Given the description of an element on the screen output the (x, y) to click on. 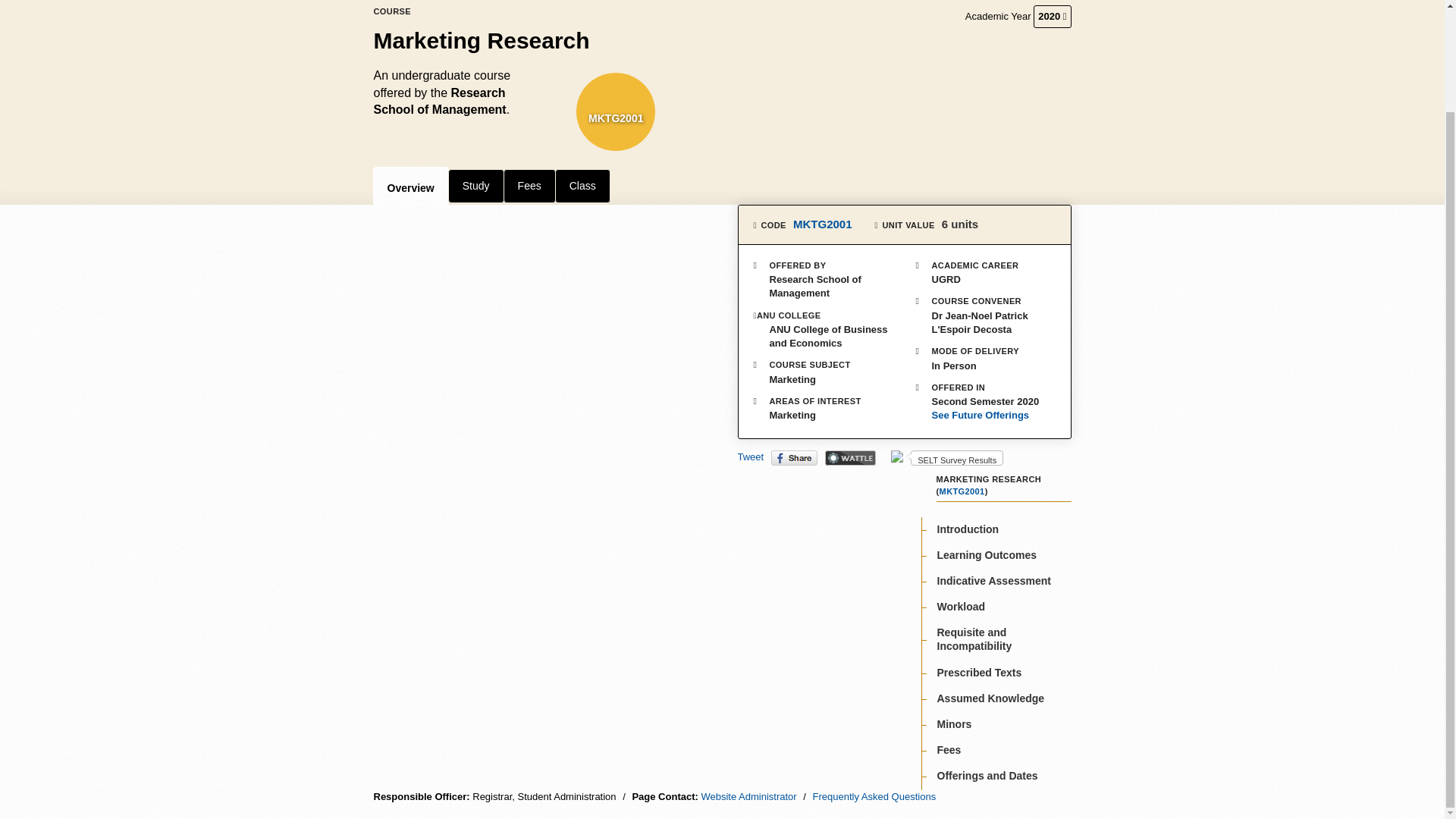
Introduction (967, 528)
Wattle Share (850, 457)
Tweet (749, 456)
MKTG2001 (822, 223)
Learning Outcomes (986, 554)
Class (582, 185)
MKTG2001 (962, 491)
Share on Facebook (793, 457)
Fees (529, 185)
See Future Offerings (985, 415)
